Given the description of an element on the screen output the (x, y) to click on. 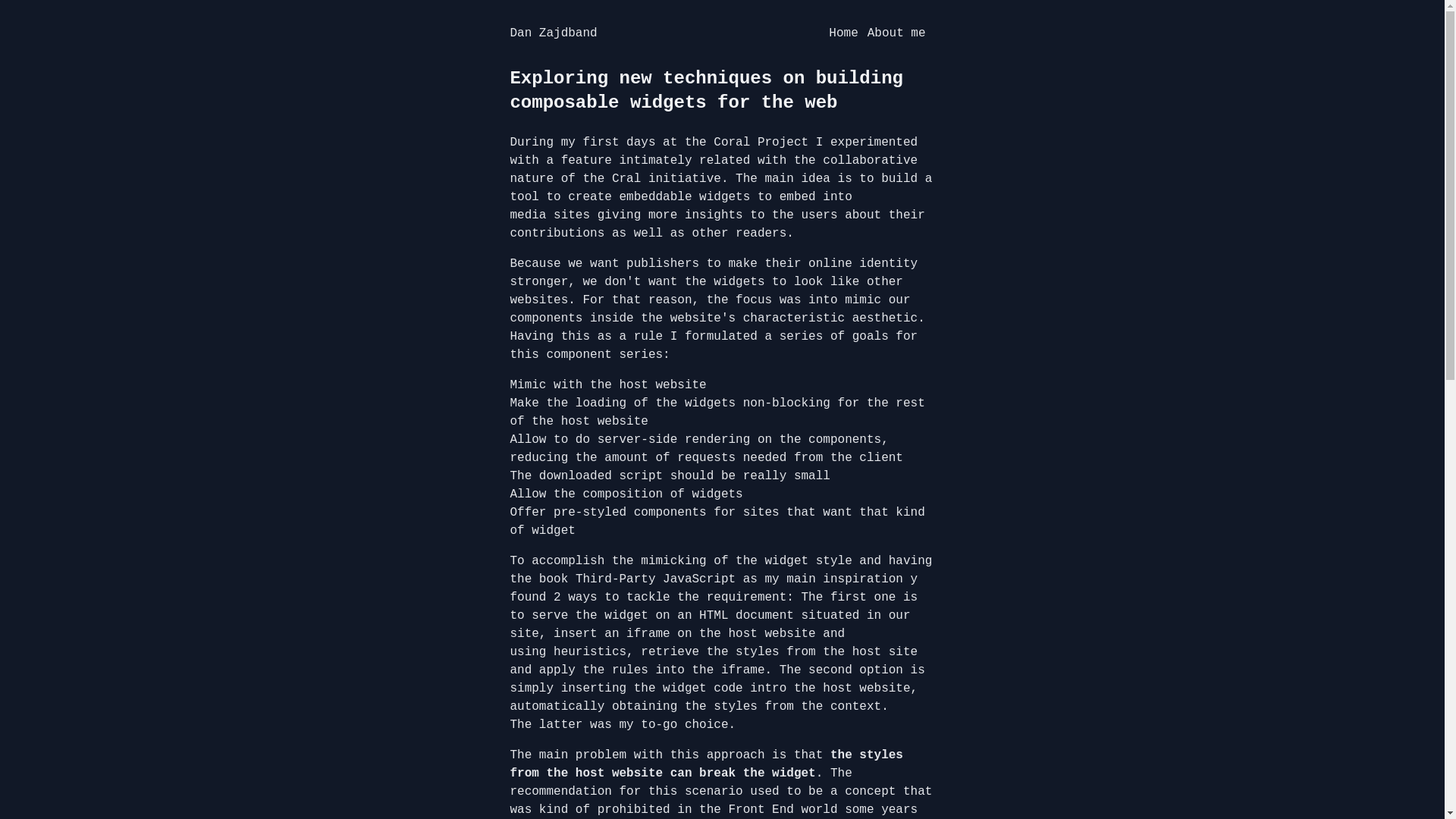
Dan Zajdband Element type: text (552, 33)
Home Element type: text (842, 33)
Coral Project Element type: text (760, 142)
Third-Party JavaScript Element type: text (655, 579)
About me Element type: text (896, 33)
